Given the description of an element on the screen output the (x, y) to click on. 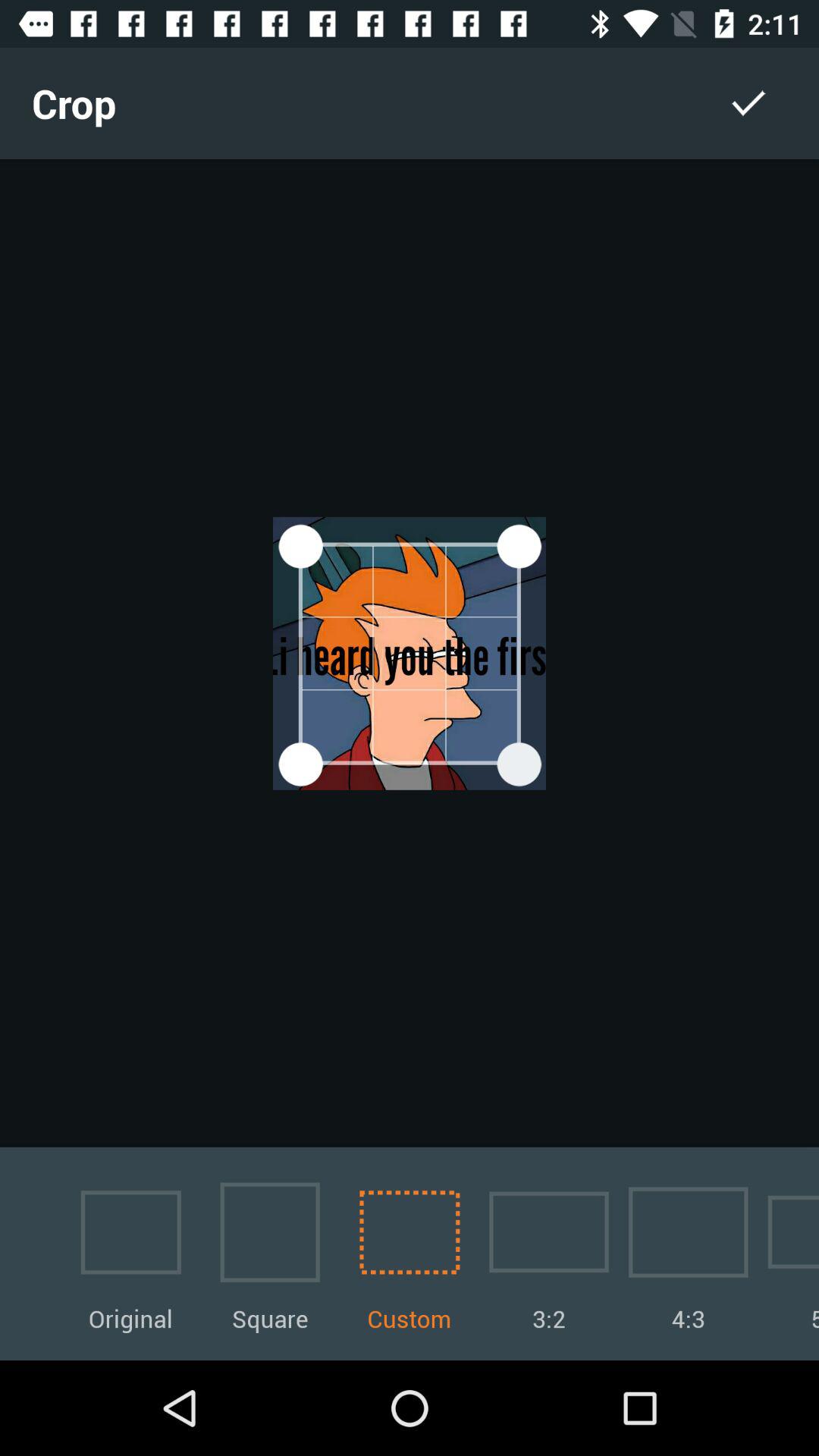
open item next to the crop (748, 102)
